Given the description of an element on the screen output the (x, y) to click on. 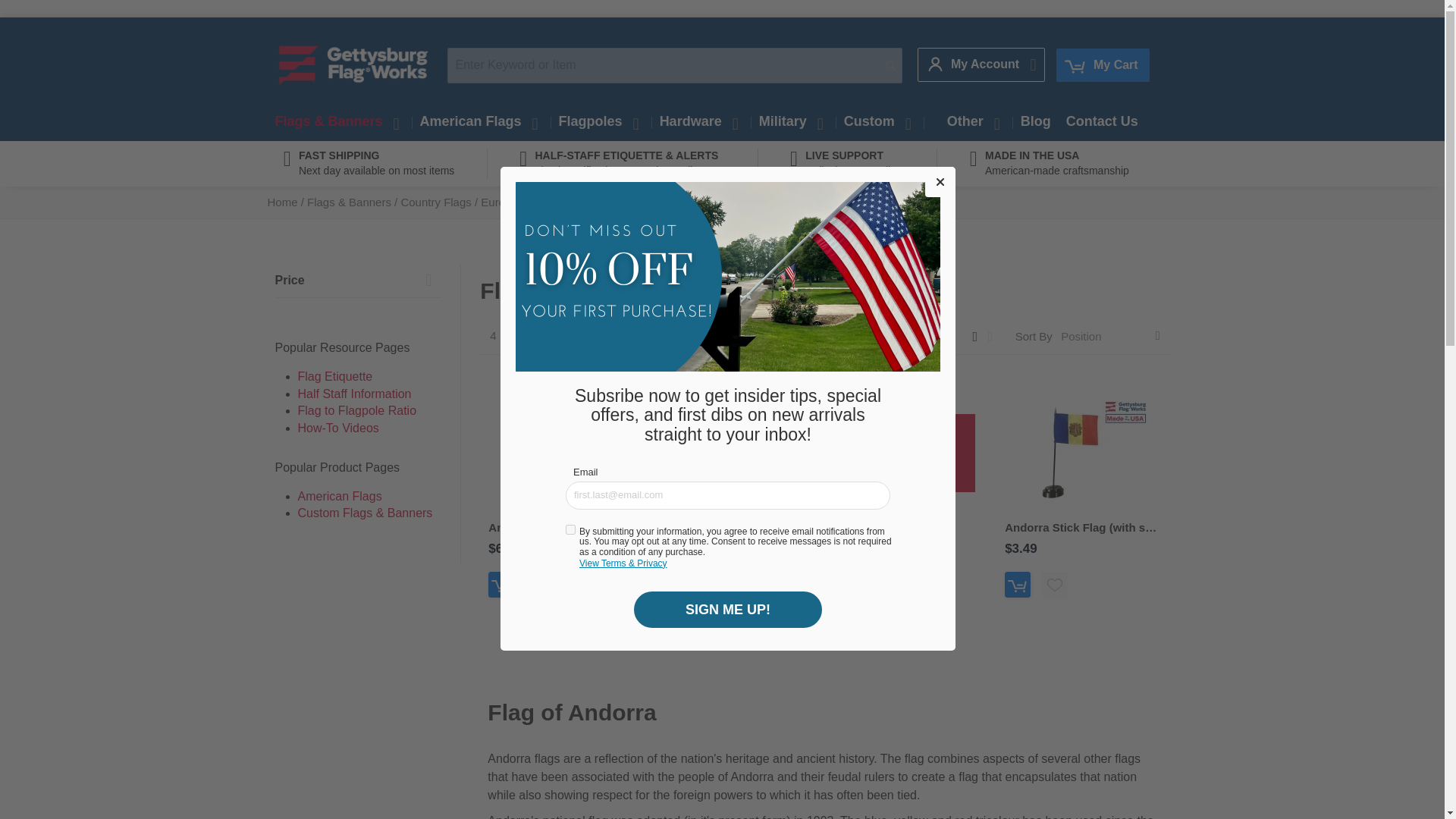
Search (890, 64)
Add to Wish List (538, 584)
My Cart (1103, 64)
Add to Cart (500, 584)
Add to Cart (673, 584)
Add to Wish List (710, 584)
My Account (974, 63)
My Account (974, 63)
Add to Cart (845, 584)
Add to Wish List (882, 584)
Go to Home Page (282, 201)
